Given the description of an element on the screen output the (x, y) to click on. 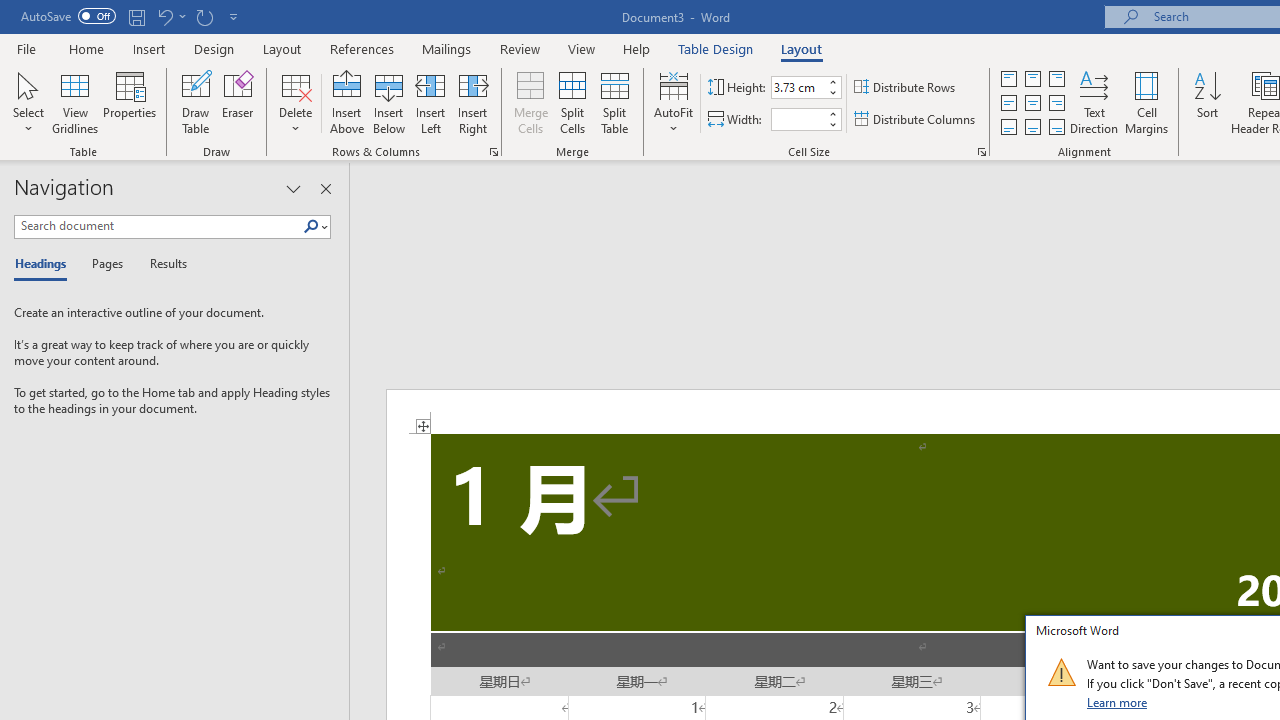
Insert Below (388, 102)
Split Cells... (572, 102)
Align Center Justified (1009, 103)
Align Bottom Justified (1009, 126)
Draw Table (196, 102)
View Gridlines (75, 102)
Merge Cells (530, 102)
Learn more (1118, 702)
Align Bottom Right (1056, 126)
Less (832, 124)
Text Direction (1094, 102)
